Given the description of an element on the screen output the (x, y) to click on. 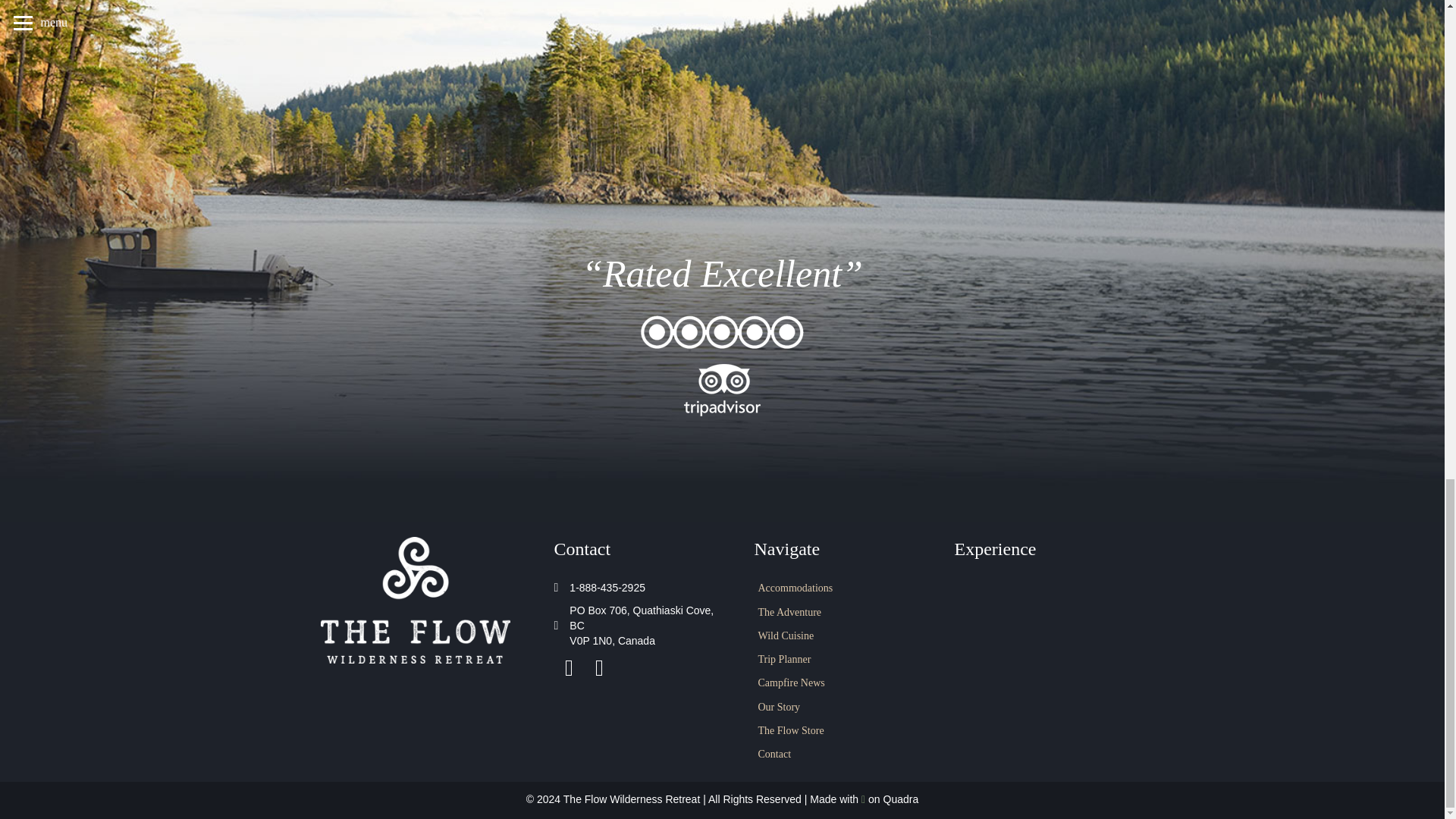
Wild Cuisine (838, 635)
The Flow Store (838, 730)
Accommodations (838, 588)
Our Story (838, 707)
tripadvisor-logo (722, 389)
The Adventure (838, 612)
Facebook (568, 667)
Trip Planner (838, 659)
Instagram (598, 667)
5-star-rating (721, 331)
